Given the description of an element on the screen output the (x, y) to click on. 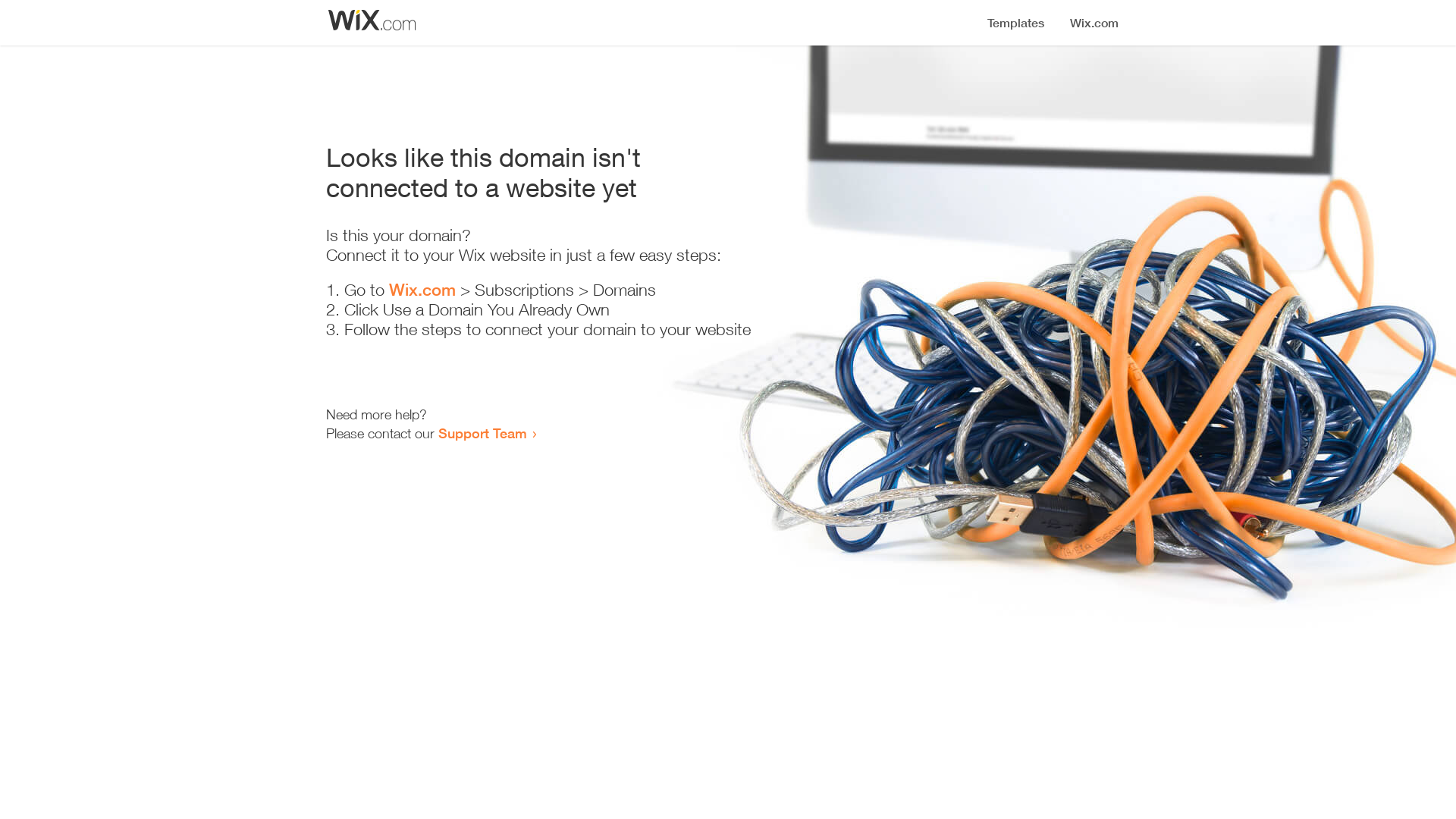
Wix.com Element type: text (422, 289)
Support Team Element type: text (482, 432)
